Given the description of an element on the screen output the (x, y) to click on. 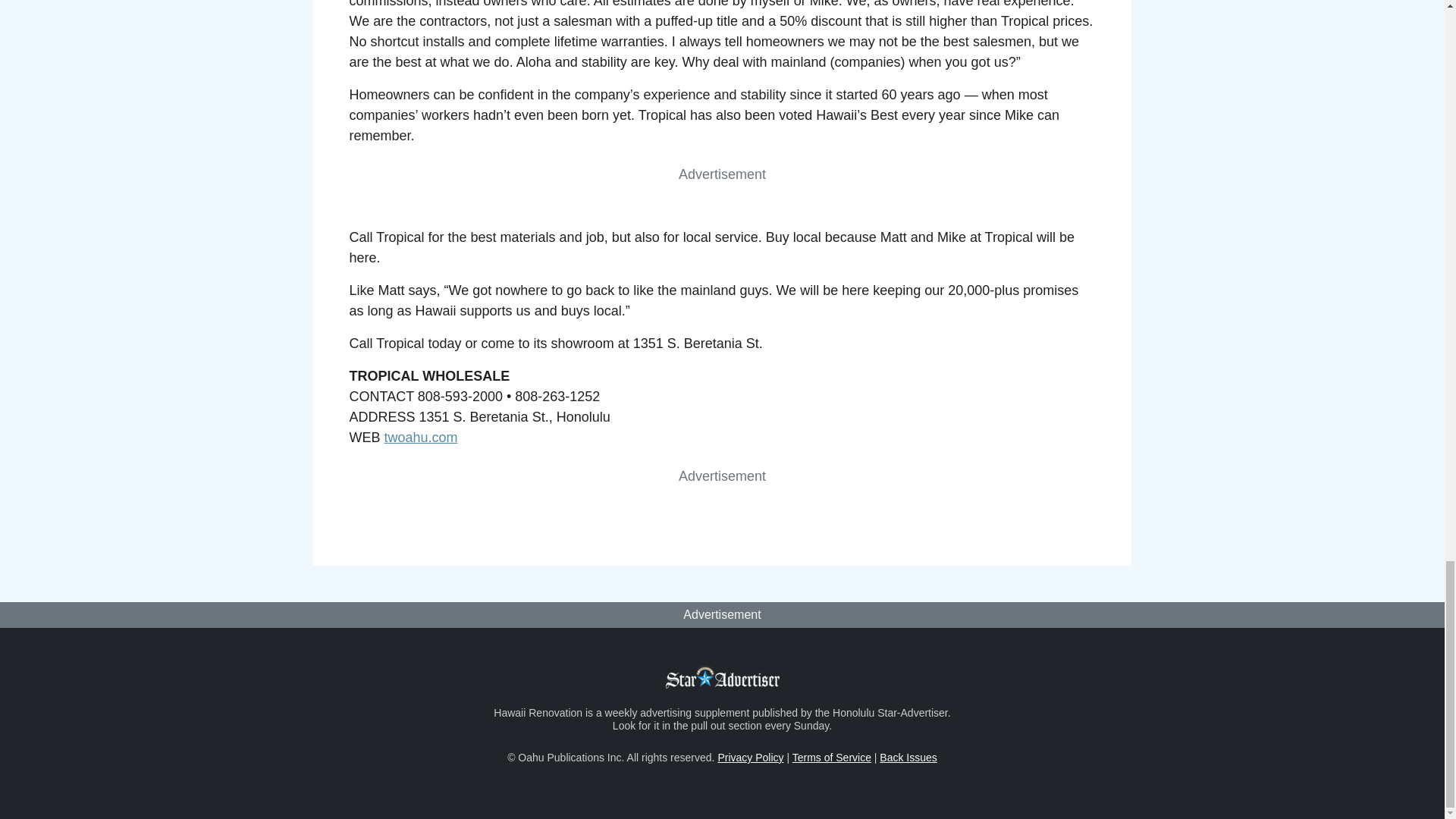
Terms of Service (831, 757)
twoahu.com (421, 437)
Privacy Policy (750, 757)
Back Issues (907, 757)
